Given the description of an element on the screen output the (x, y) to click on. 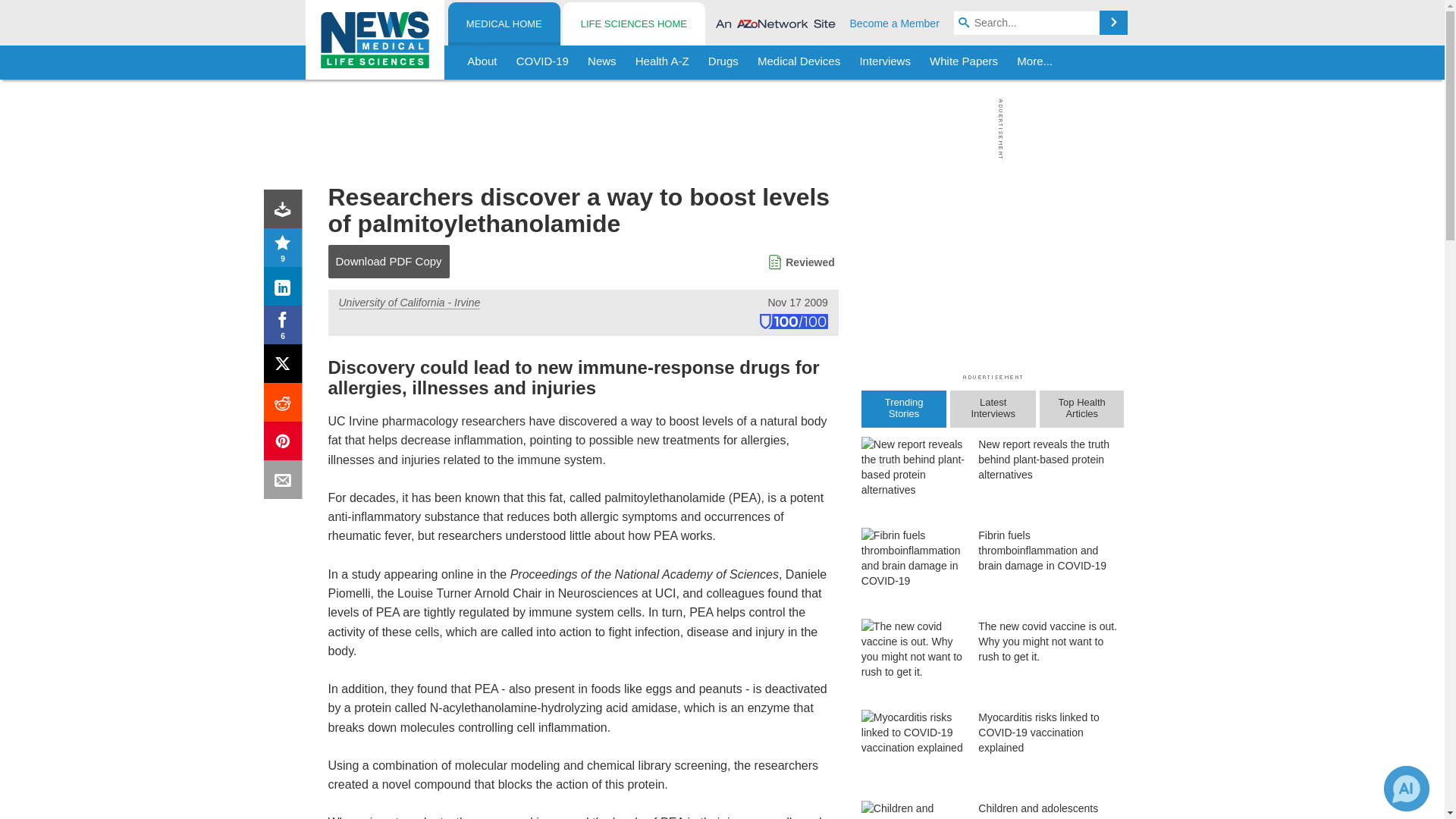
Download PDF copy (285, 212)
X (285, 366)
White Papers (963, 62)
News (601, 62)
Reddit (285, 405)
LinkedIn (285, 289)
Medical Devices (798, 62)
Health A-Z (662, 62)
MEDICAL HOME (504, 23)
